Given the description of an element on the screen output the (x, y) to click on. 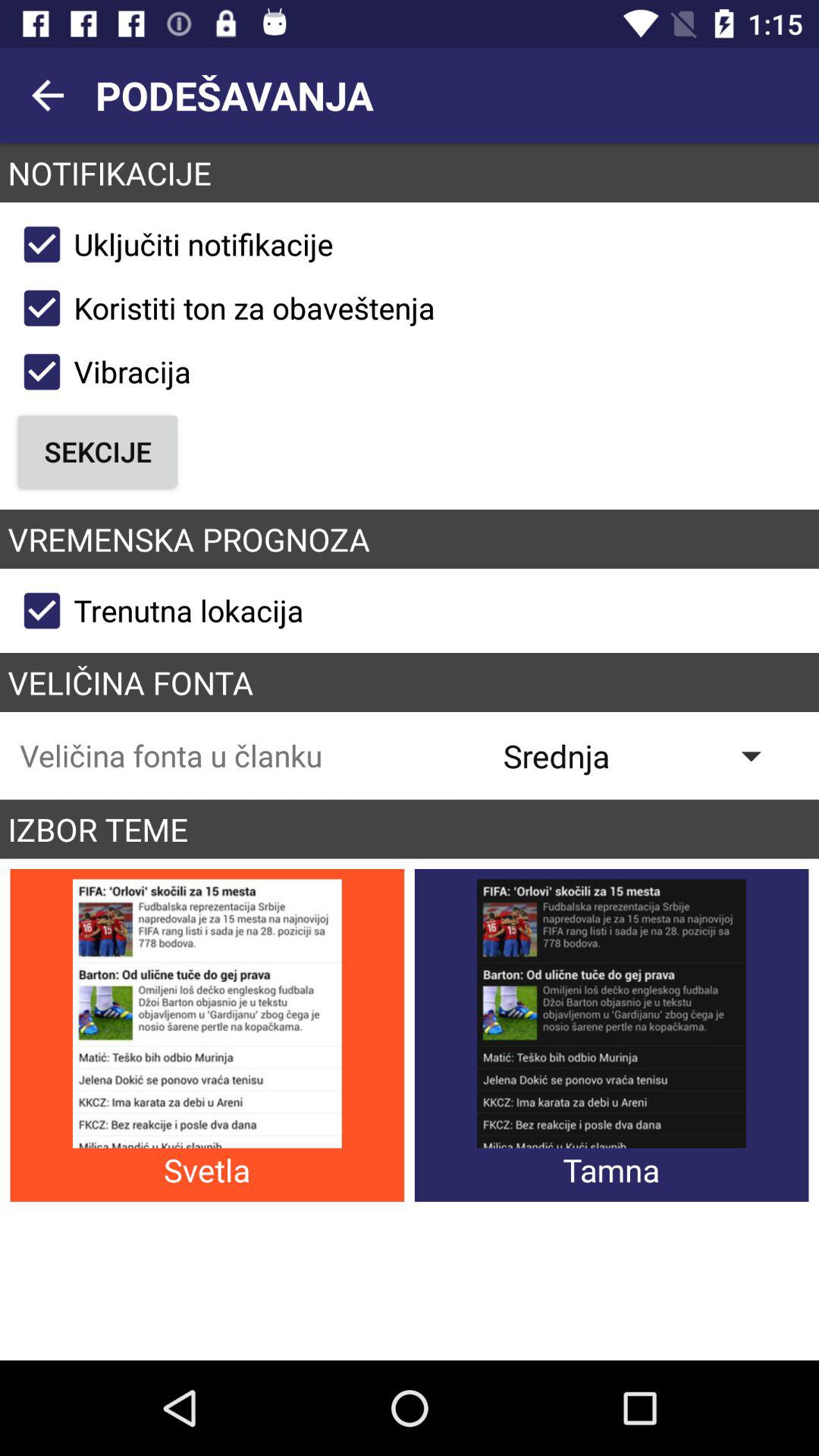
jump until vibracija item (100, 371)
